Given the description of an element on the screen output the (x, y) to click on. 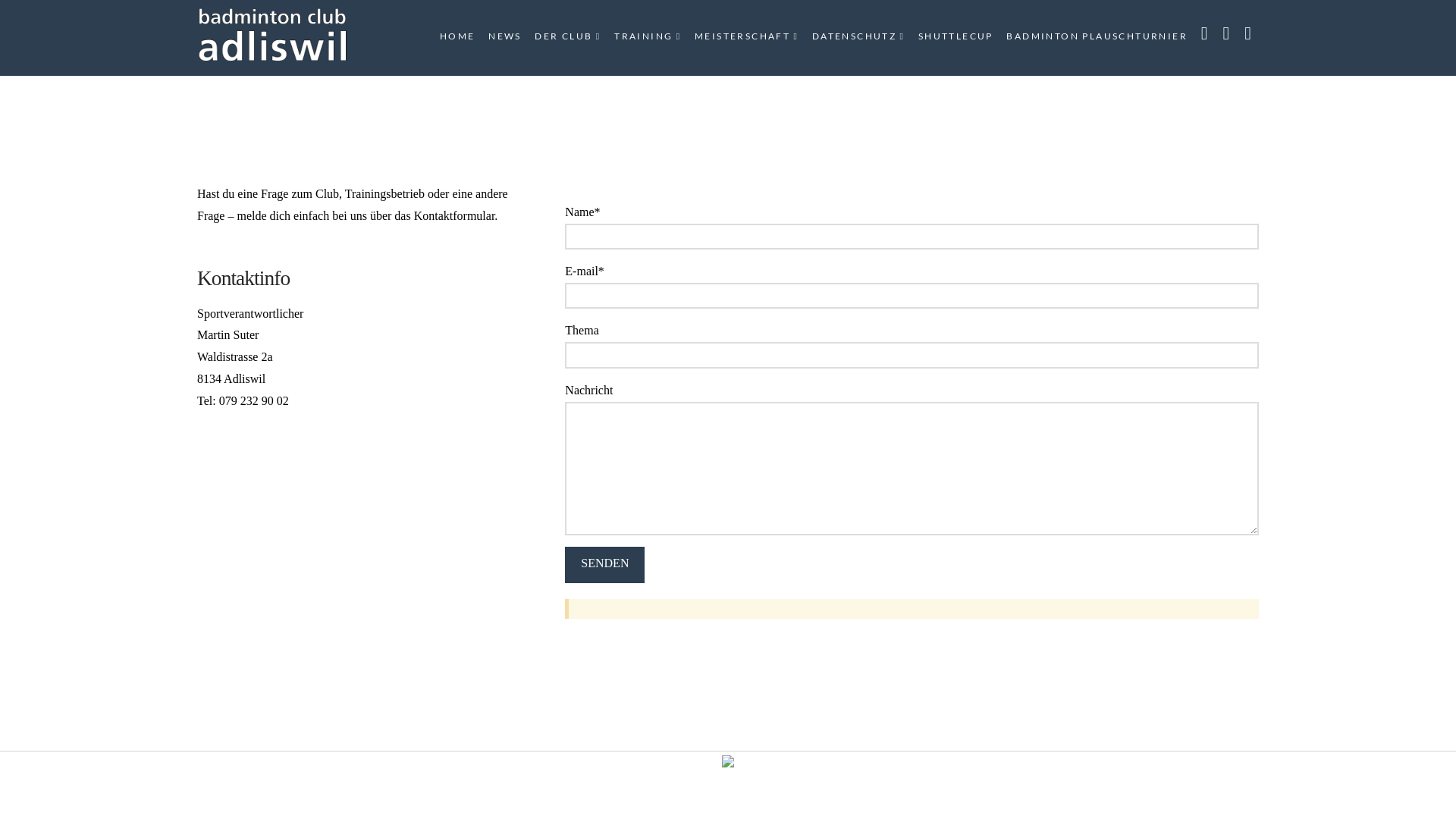
Senden Element type: text (604, 564)
MEISTERSCHAFT Element type: text (745, 37)
HOME Element type: text (456, 37)
DATENSCHUTZ Element type: text (857, 37)
TRAINING Element type: text (646, 37)
DER CLUB Element type: text (566, 37)
Infos zum BCA Element type: hover (272, 33)
SHUTTLECUP Element type: text (954, 37)
NEWS Element type: text (503, 37)
BADMINTON PLAUSCHTURNIER Element type: text (1095, 37)
